Given the description of an element on the screen output the (x, y) to click on. 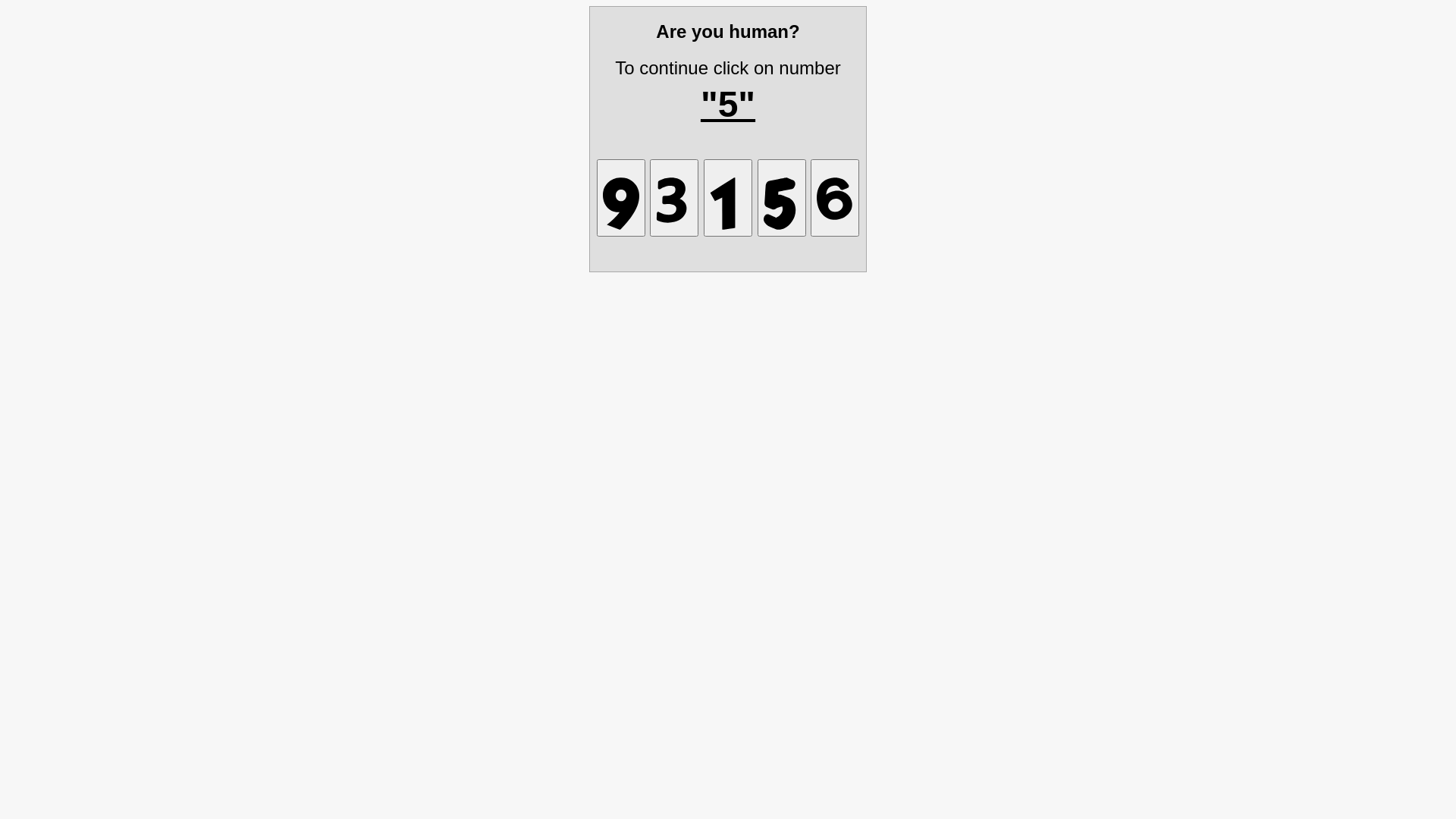
1732429376366331 Element type: text (781, 197)
1732429376331121 Element type: text (673, 197)
1732429376663532 Element type: text (834, 197)
1732429376614721 Element type: text (727, 197)
1732429376527091 Element type: text (620, 197)
